Given the description of an element on the screen output the (x, y) to click on. 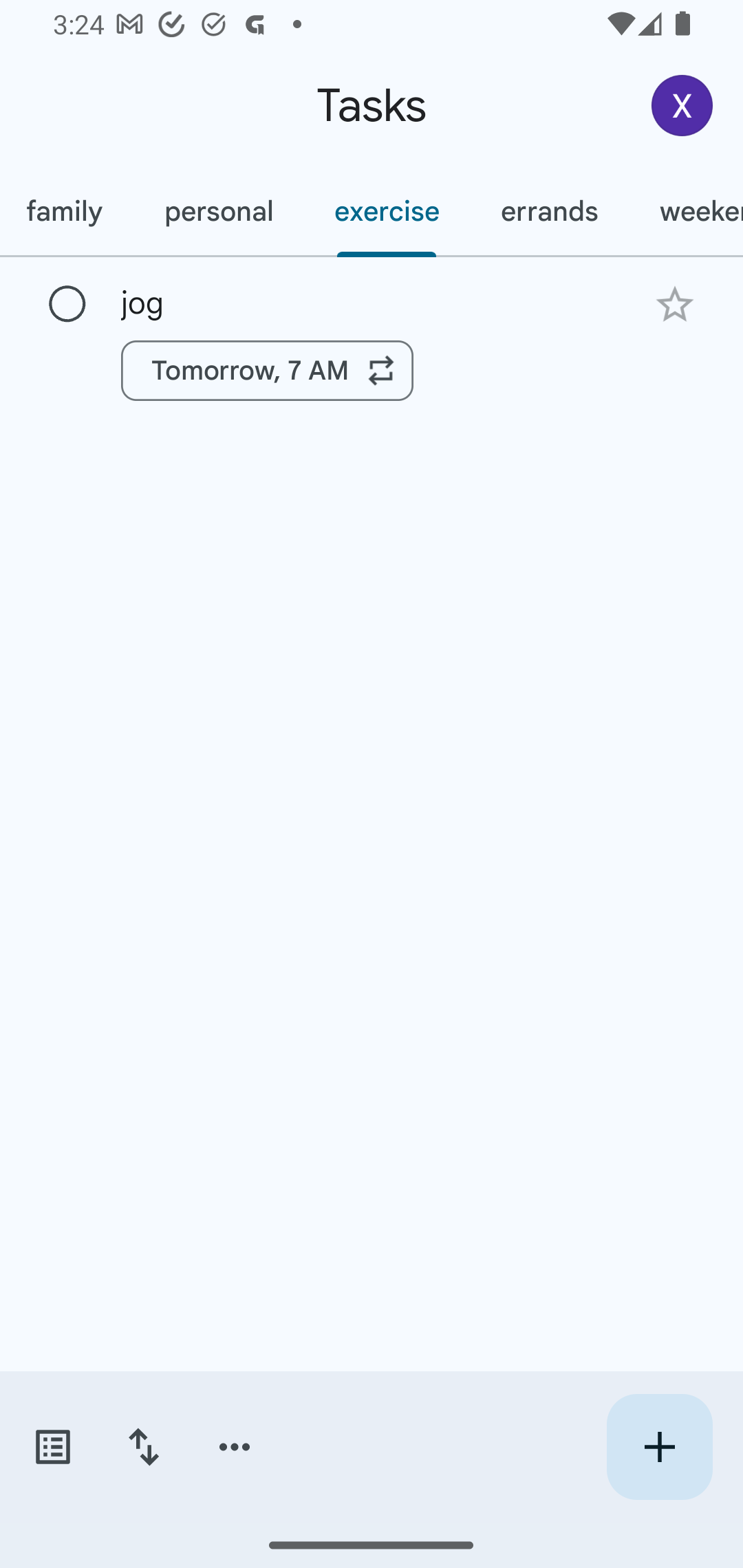
family (66, 211)
personal (218, 211)
errands (548, 211)
weekend (685, 211)
Add star (674, 303)
Mark as complete (67, 304)
Tomorrow, 7 AM (267, 369)
Switch task lists (52, 1447)
Create new task (659, 1446)
Change sort order (143, 1446)
More options (234, 1446)
